Given the description of an element on the screen output the (x, y) to click on. 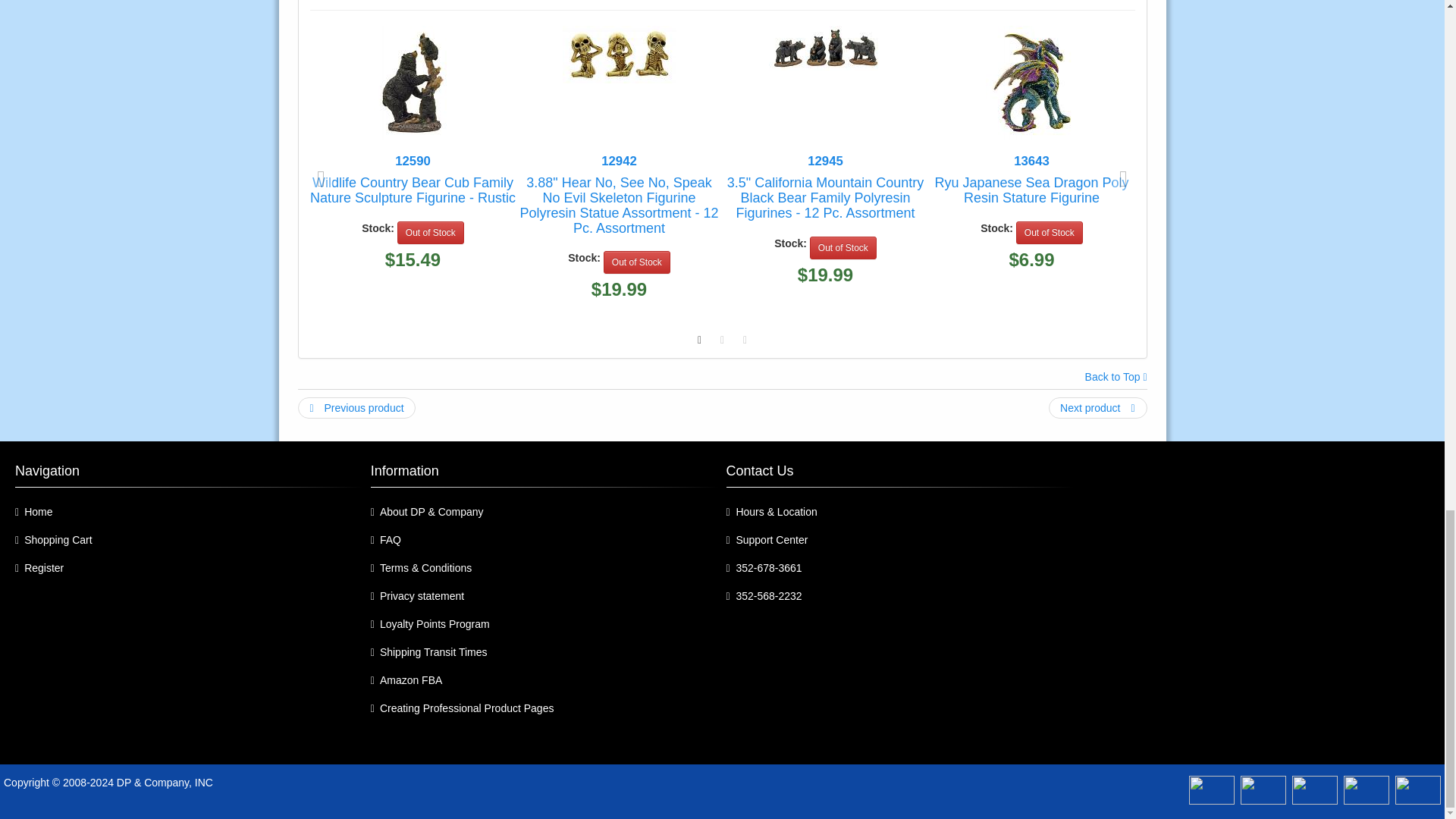
Back to Top (1115, 377)
